Given the description of an element on the screen output the (x, y) to click on. 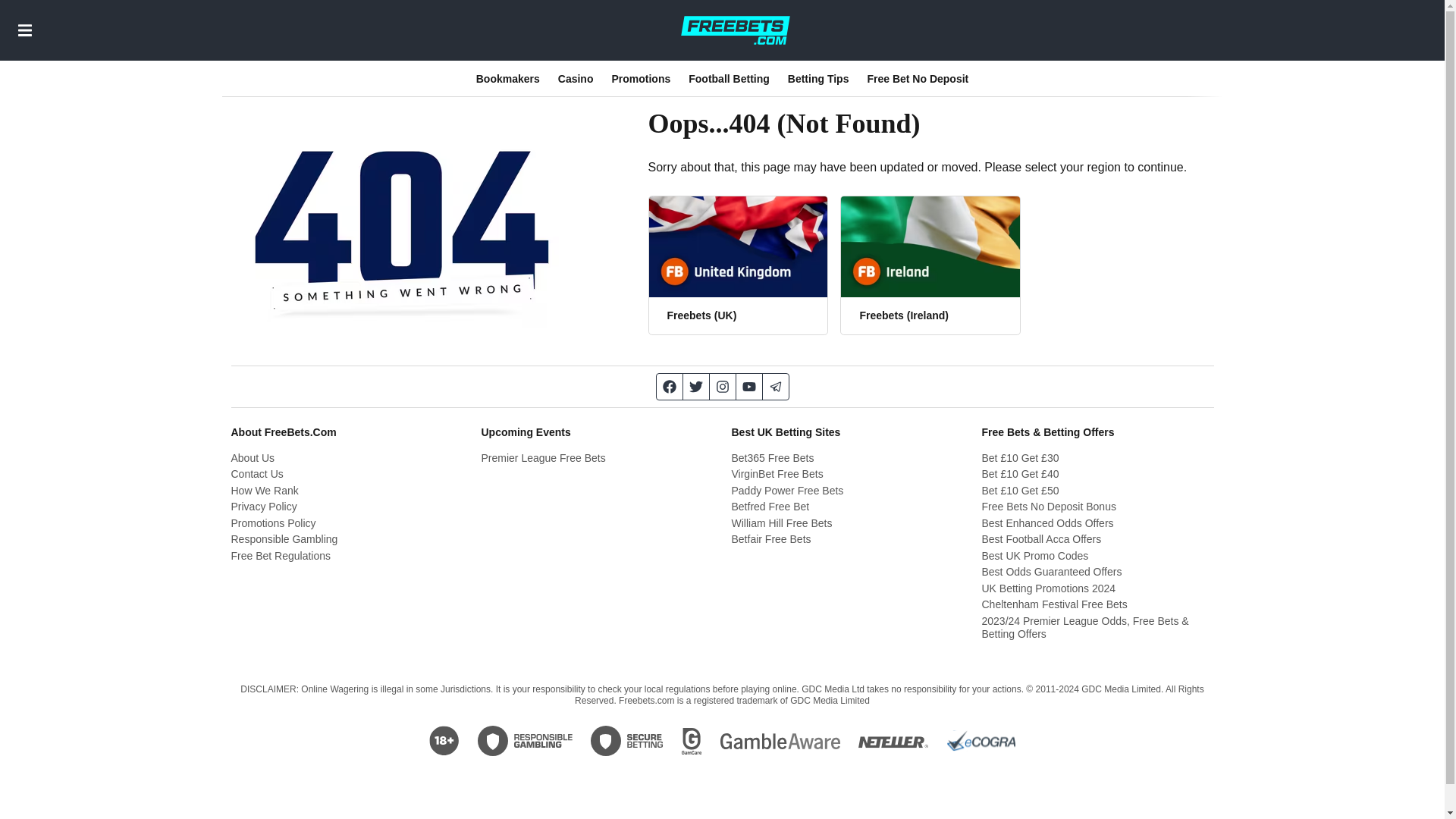
Facebook page (669, 386)
Instagram page (723, 386)
Telegram (775, 386)
Twitter feed (695, 386)
FreeBets Logo (735, 29)
Youtube page (748, 386)
